Given the description of an element on the screen output the (x, y) to click on. 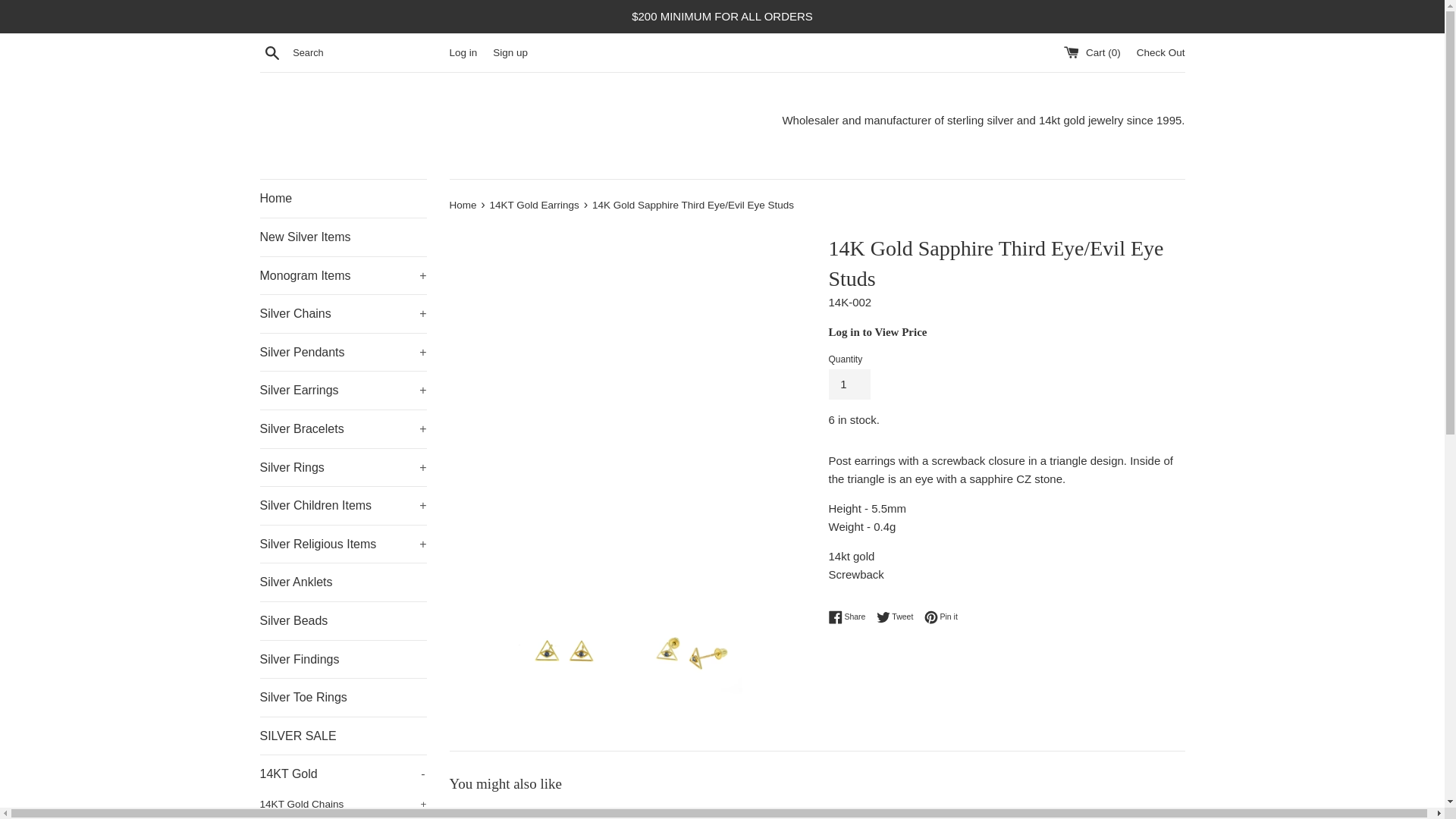
Pin on Pinterest (941, 617)
New Silver Items (342, 237)
Search (271, 52)
Log in (462, 52)
Home (342, 198)
14KT Gold Enamel Ladybug Screwback Studs (563, 814)
14KT Gold Rectangle Pearl Screwback Studs (1070, 814)
14KT Gold Hammered Rectangle Screwback Studs (816, 814)
1 (848, 384)
Tweet on Twitter (898, 617)
